Given the description of an element on the screen output the (x, y) to click on. 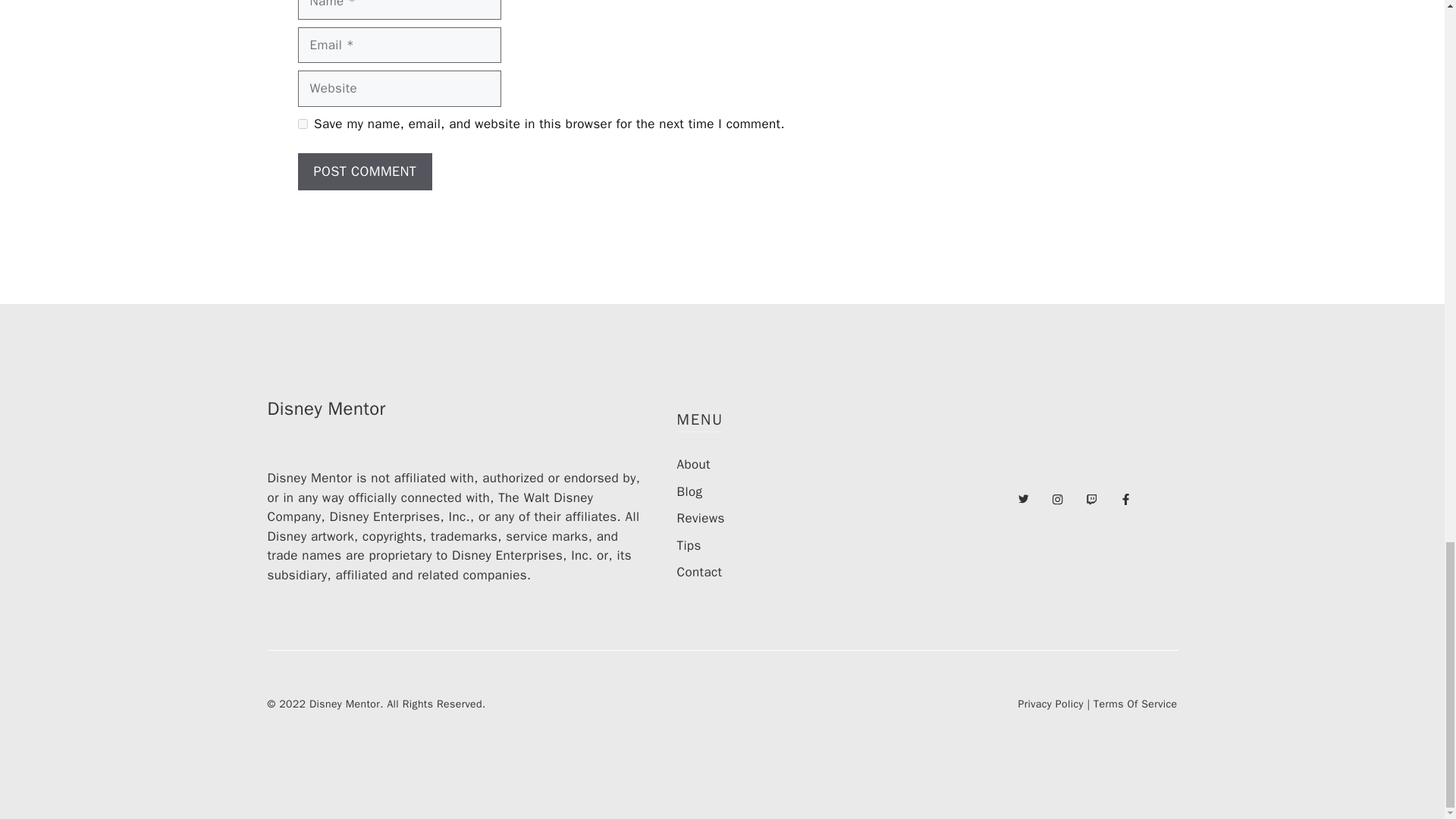
Post Comment (364, 171)
Reviews (700, 518)
Blog (689, 491)
About (693, 464)
Tips (688, 545)
Privacy Policy (1050, 703)
Post Comment (364, 171)
yes (302, 123)
Contact (699, 571)
Terms Of Service (1134, 703)
